Given the description of an element on the screen output the (x, y) to click on. 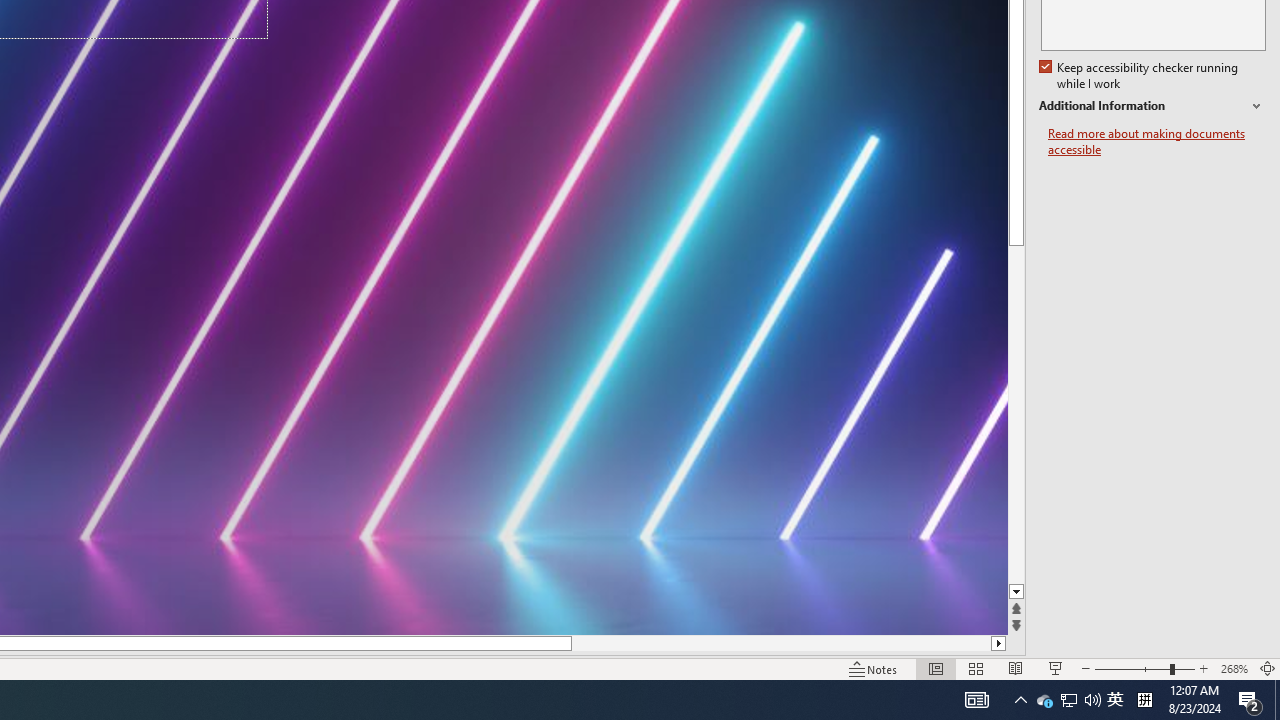
Zoom 268% (1234, 668)
